Given the description of an element on the screen output the (x, y) to click on. 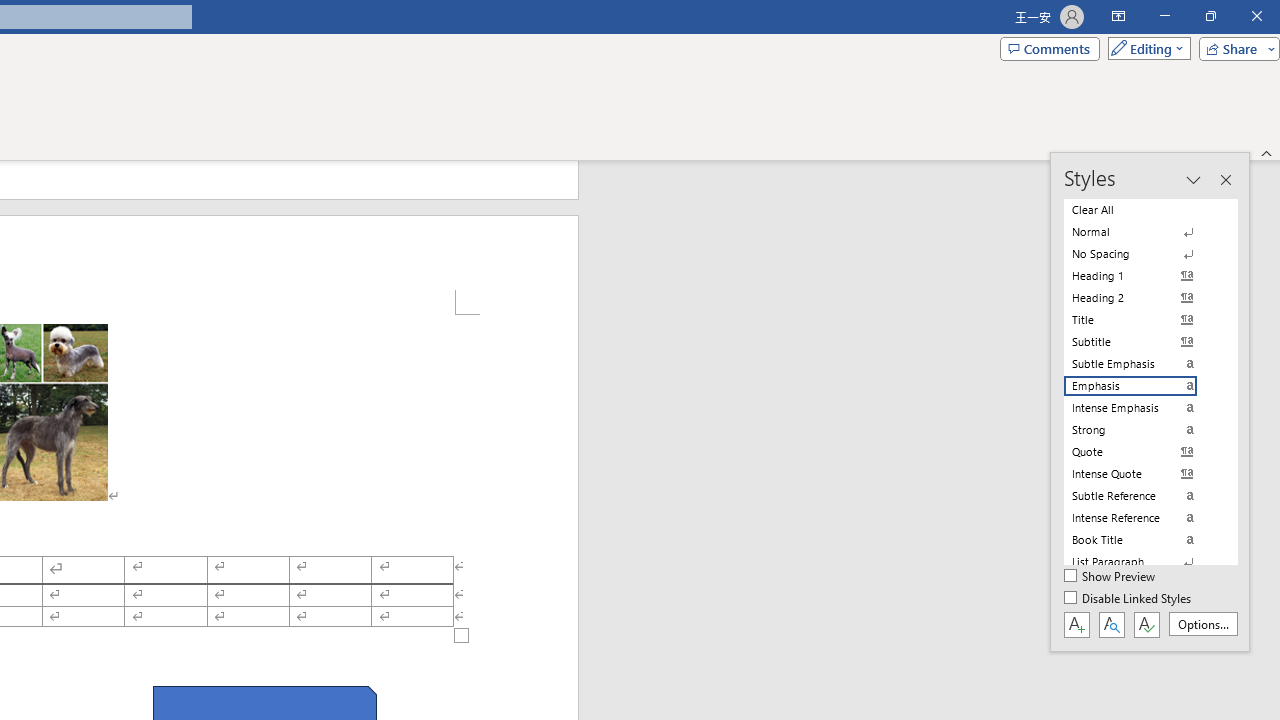
Normal (1142, 232)
Subtle Emphasis (1142, 363)
Clear All (1142, 209)
